Given the description of an element on the screen output the (x, y) to click on. 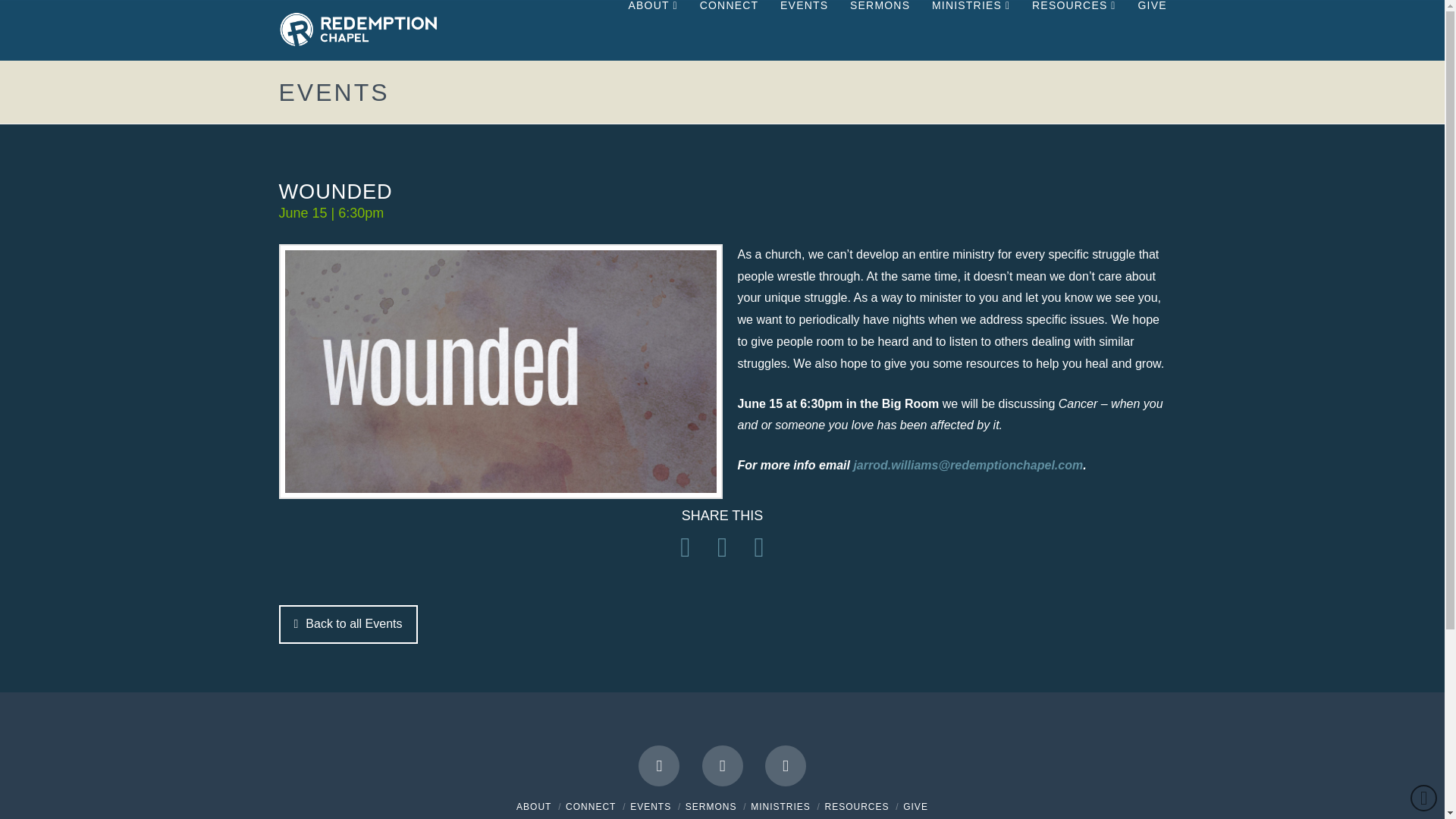
Back to Top (1423, 797)
Share via Email (759, 546)
Facebook (659, 765)
SERMONS (879, 30)
YouTube (721, 765)
Instagram (785, 765)
CONNECT (728, 30)
EVENTS (803, 30)
Share on X (721, 546)
MINISTRIES (970, 30)
